Given the description of an element on the screen output the (x, y) to click on. 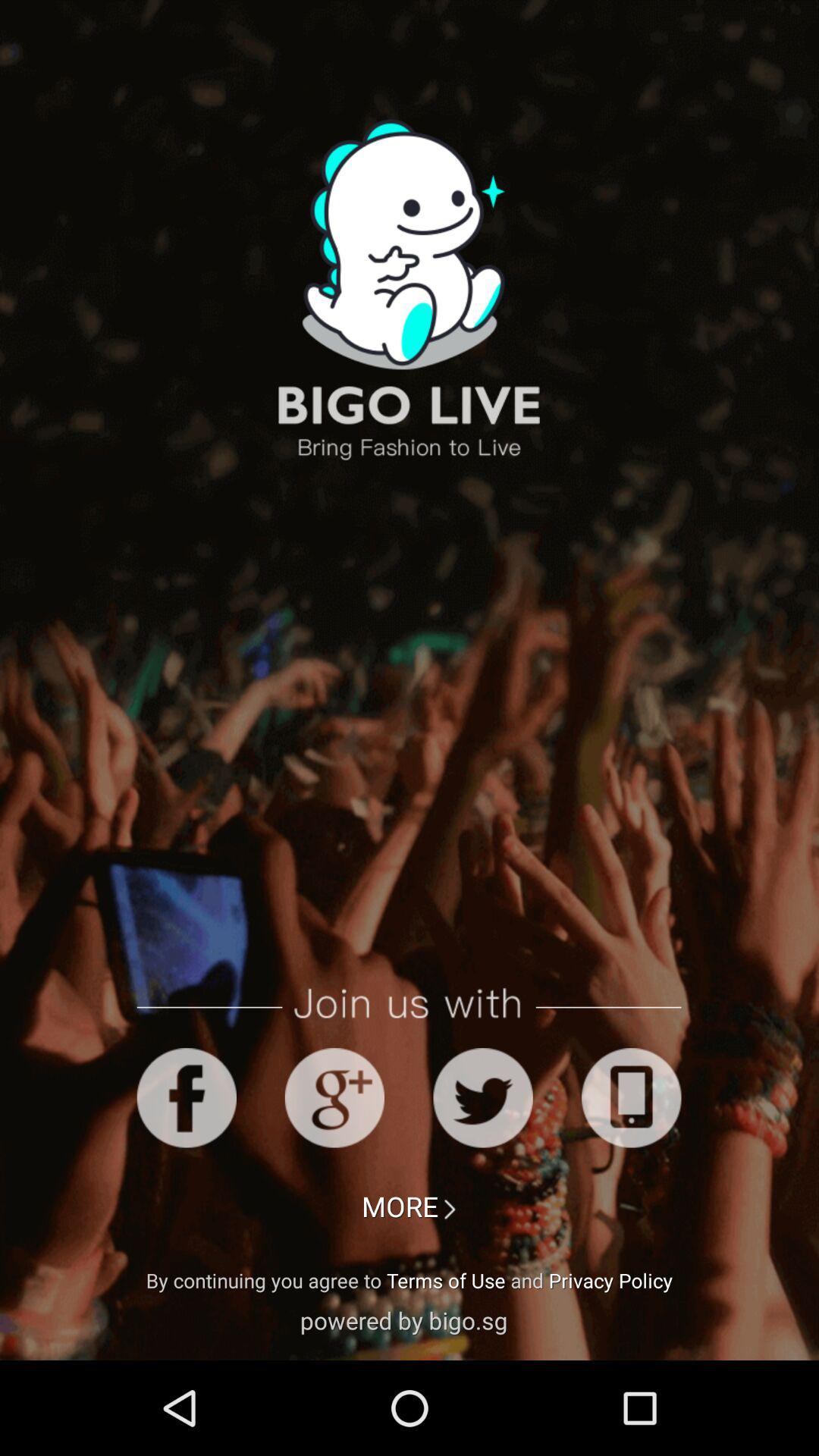
join with social media (631, 1097)
